Given the description of an element on the screen output the (x, y) to click on. 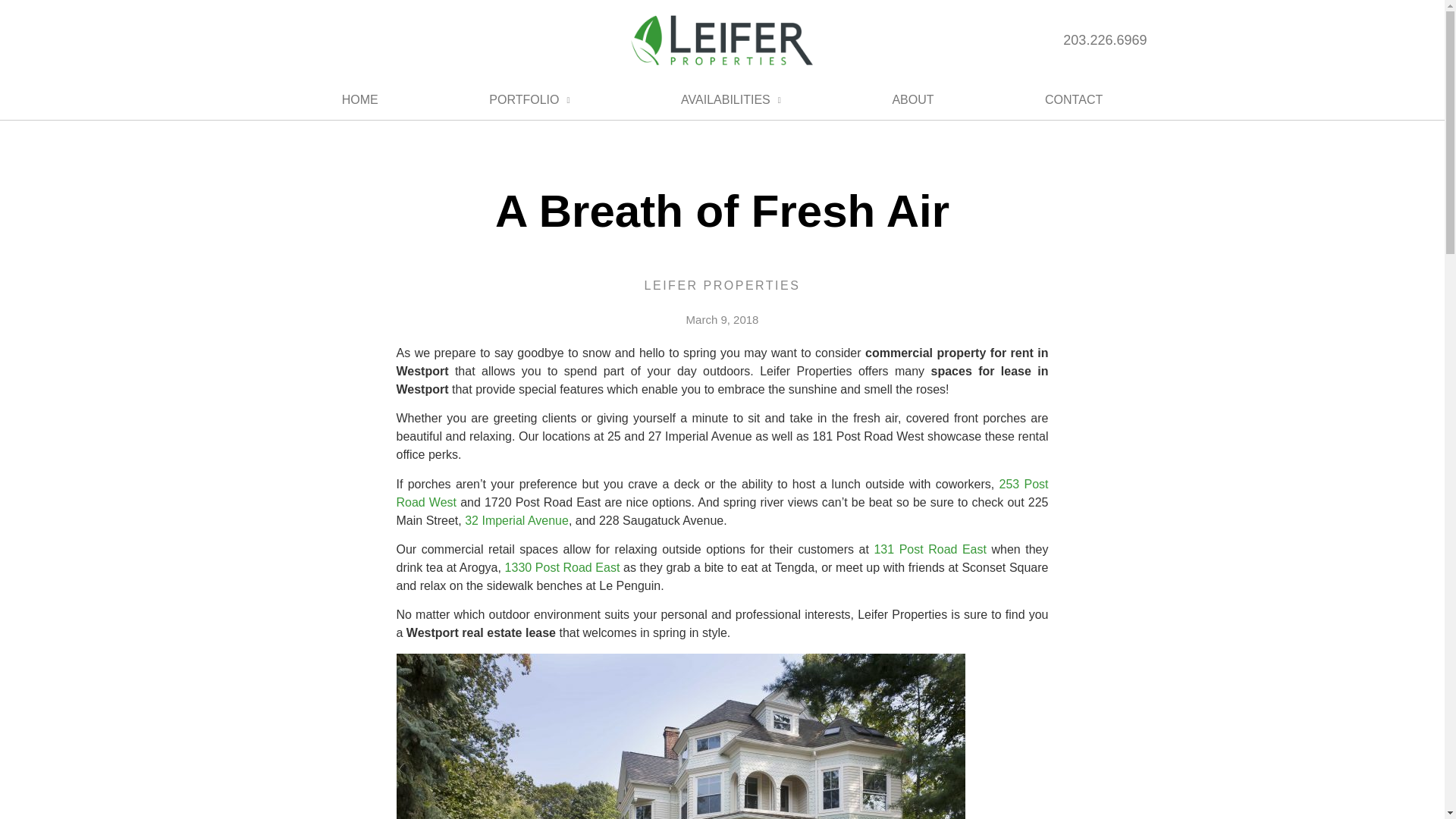
March 9, 2018 (721, 320)
32 Imperial Avenue (516, 520)
203.226.6969 (1104, 39)
CONTACT (1073, 99)
131 Post Road East (930, 549)
253 Post Road West (722, 492)
ABOUT (912, 99)
AVAILABILITIES (730, 99)
PORTFOLIO (529, 99)
1330 Post Road East (562, 567)
HOME (359, 99)
